Given the description of an element on the screen output the (x, y) to click on. 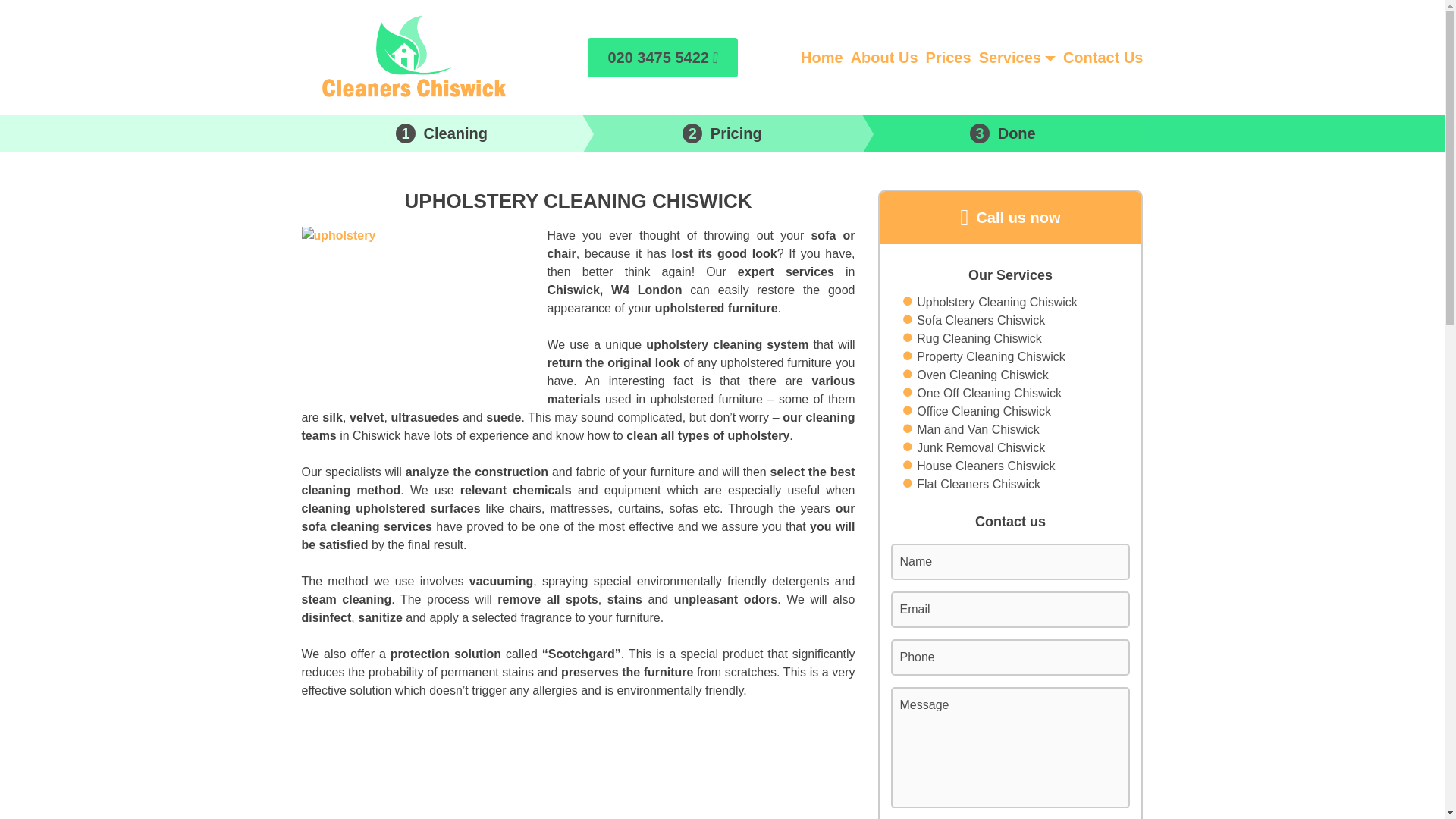
Man and Van Chiswick (978, 429)
About Us (884, 56)
Upholstery Cleaning Chiswick (997, 302)
Flat Cleaners Chiswick (979, 484)
Junk Removal Chiswick (981, 447)
Office Cleaning Chiswick (984, 411)
020 3475 5422 (663, 56)
Contact Us (1102, 56)
Property Cleaning Chiswick (991, 357)
Services (1009, 56)
